Given the description of an element on the screen output the (x, y) to click on. 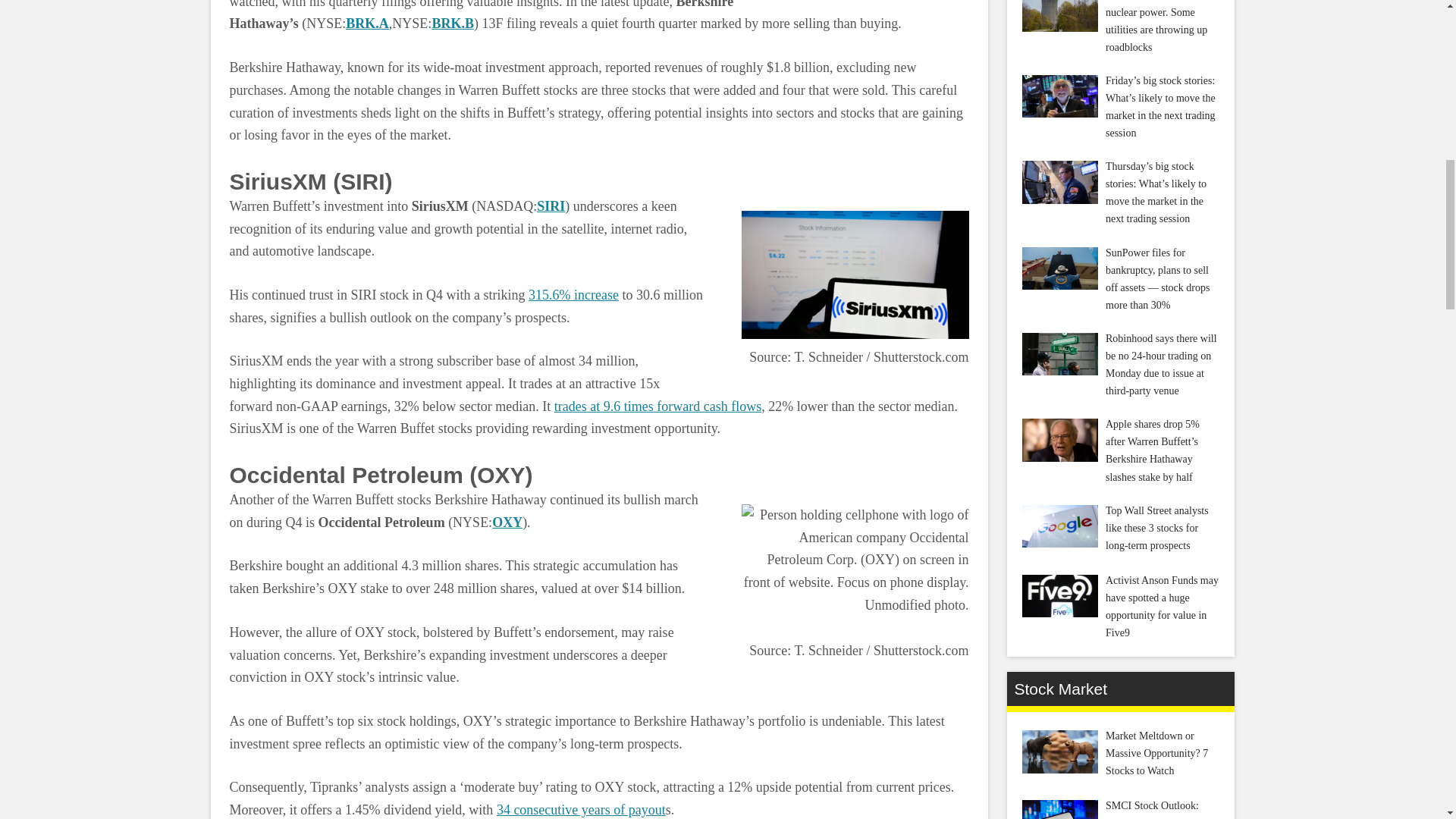
SIRI (550, 206)
BRK.B (452, 23)
BRK.A (367, 23)
